Given the description of an element on the screen output the (x, y) to click on. 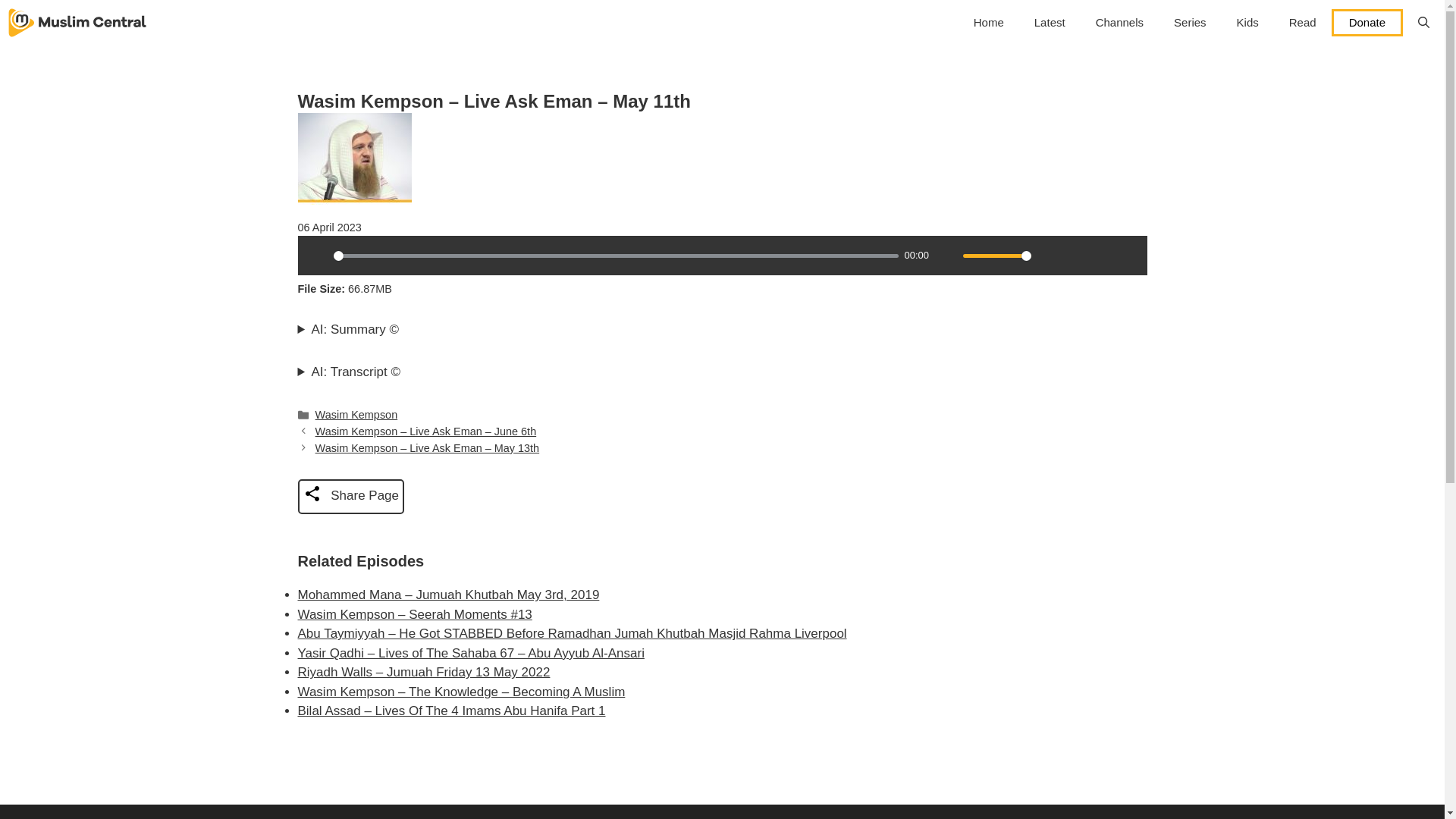
0 (615, 255)
Download (1074, 255)
Donate (1367, 22)
Home (988, 22)
Mute (946, 255)
Read (1303, 22)
Rewind 10s (1101, 255)
Play (316, 255)
Forward 10s (1126, 255)
Latest (1049, 22)
Muslim Central (77, 22)
Channels (1119, 22)
Settings (1048, 255)
Kids (1247, 22)
Series (1189, 22)
